Given the description of an element on the screen output the (x, y) to click on. 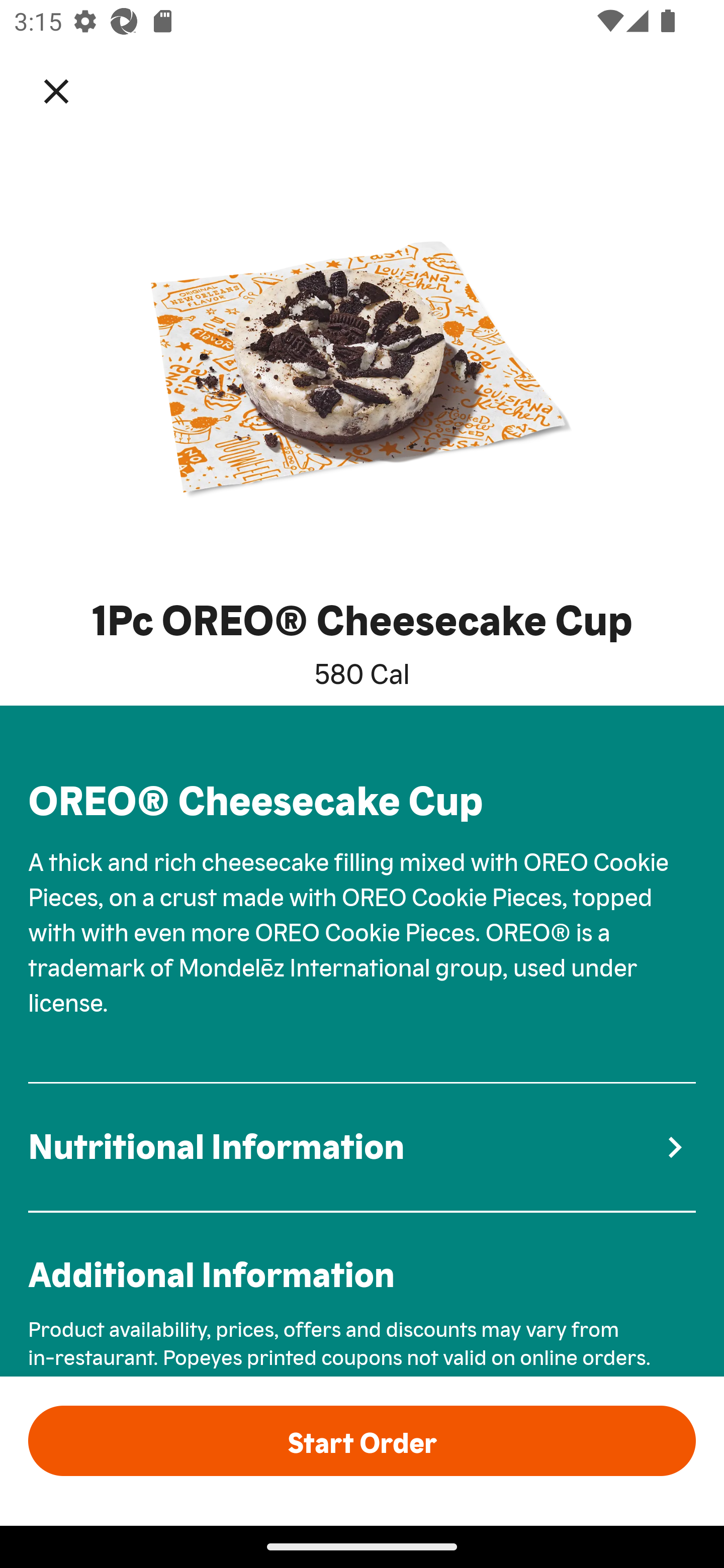
 (70, 90)
Start Order (361, 1439)
